Given the description of an element on the screen output the (x, y) to click on. 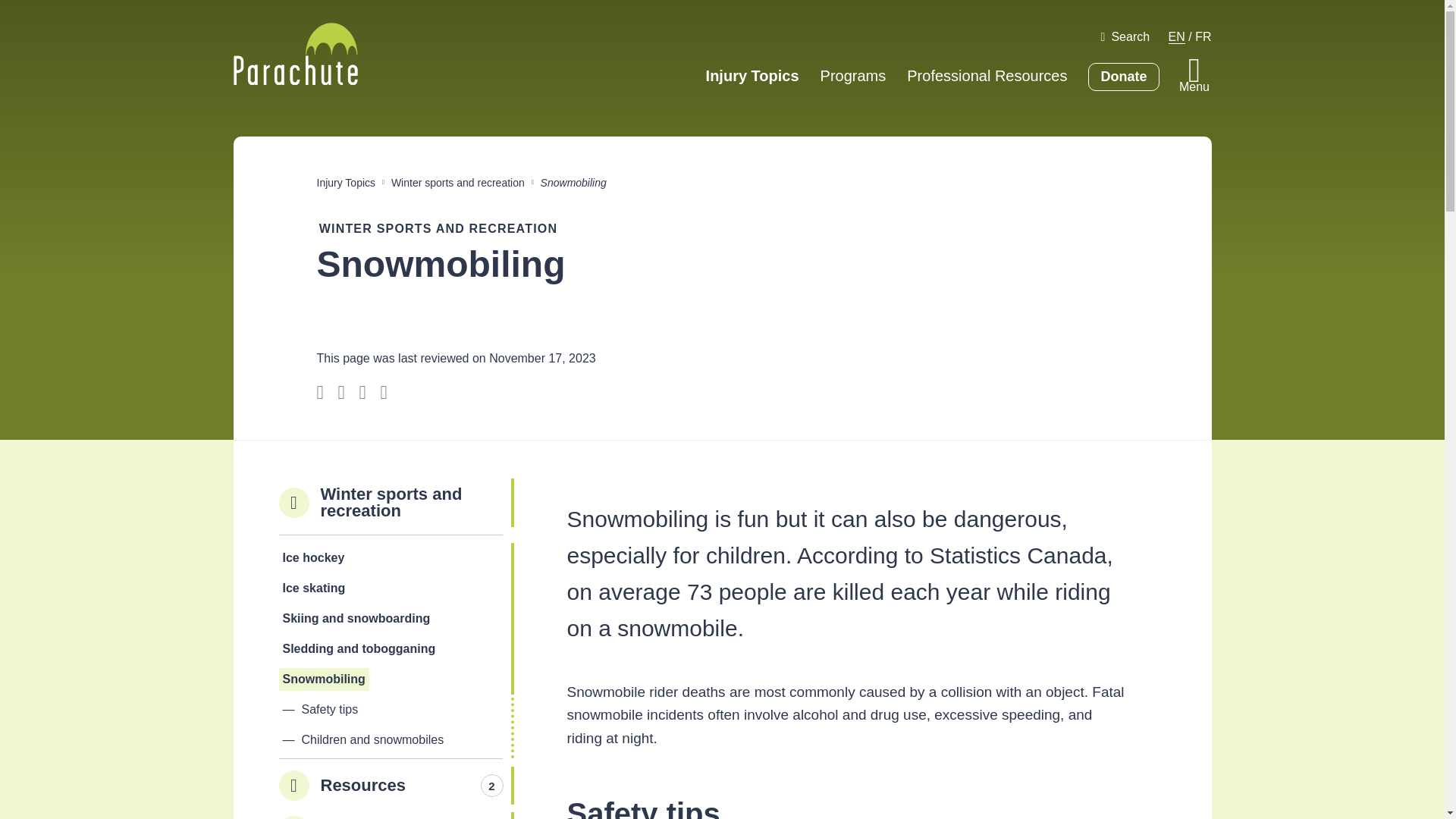
Search (1125, 36)
Professional Resources (987, 75)
Programs (853, 75)
Donate (1122, 76)
Winter sports and recreation (457, 182)
FR (1203, 36)
EN (1177, 37)
Injury Topics (752, 75)
Injury Topics (346, 182)
Menu (1193, 78)
